Given the description of an element on the screen output the (x, y) to click on. 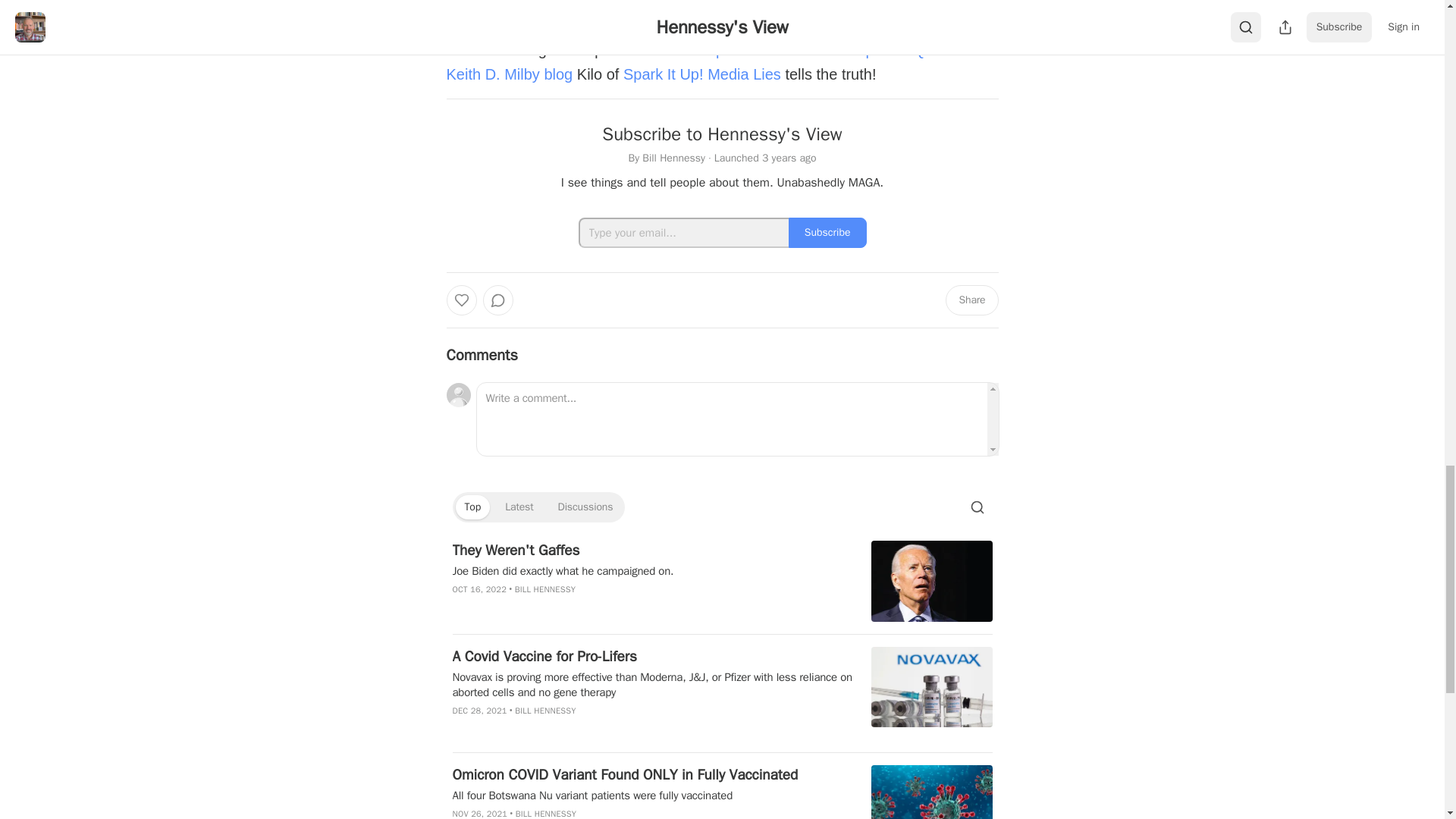
K Lopez on The Corner (763, 49)
Subscribe (827, 232)
Media Lies (743, 74)
Spark It Up! (663, 74)
Keith D. Milby blog (508, 74)
